Given the description of an element on the screen output the (x, y) to click on. 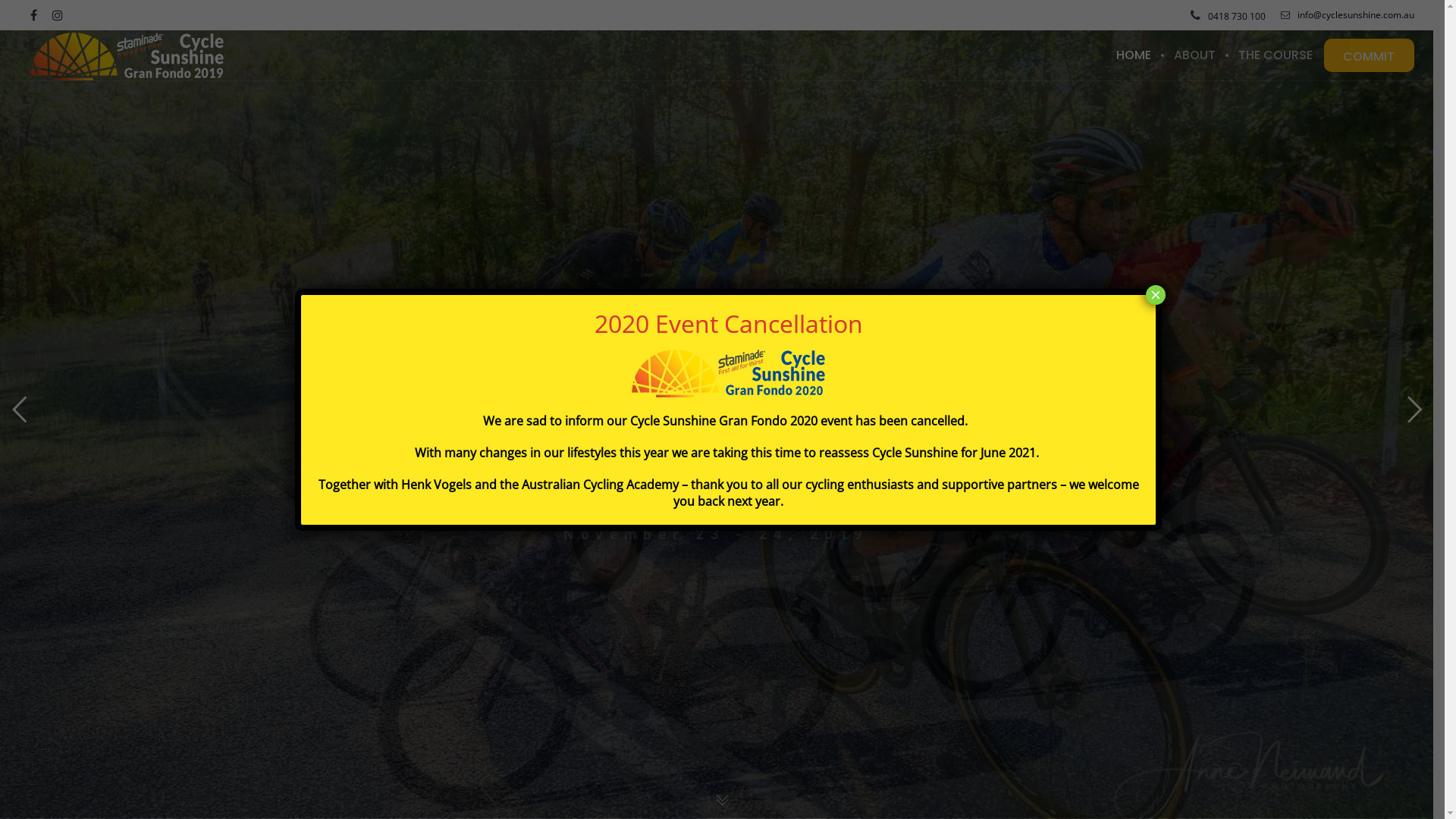
HOME Element type: text (1133, 54)
ABOUT Element type: text (1194, 54)
info@cyclesunshine.com.au Element type: text (1347, 15)
THE COURSE Element type: text (1275, 54)
COMMIT Element type: text (1369, 55)
